Given the description of an element on the screen output the (x, y) to click on. 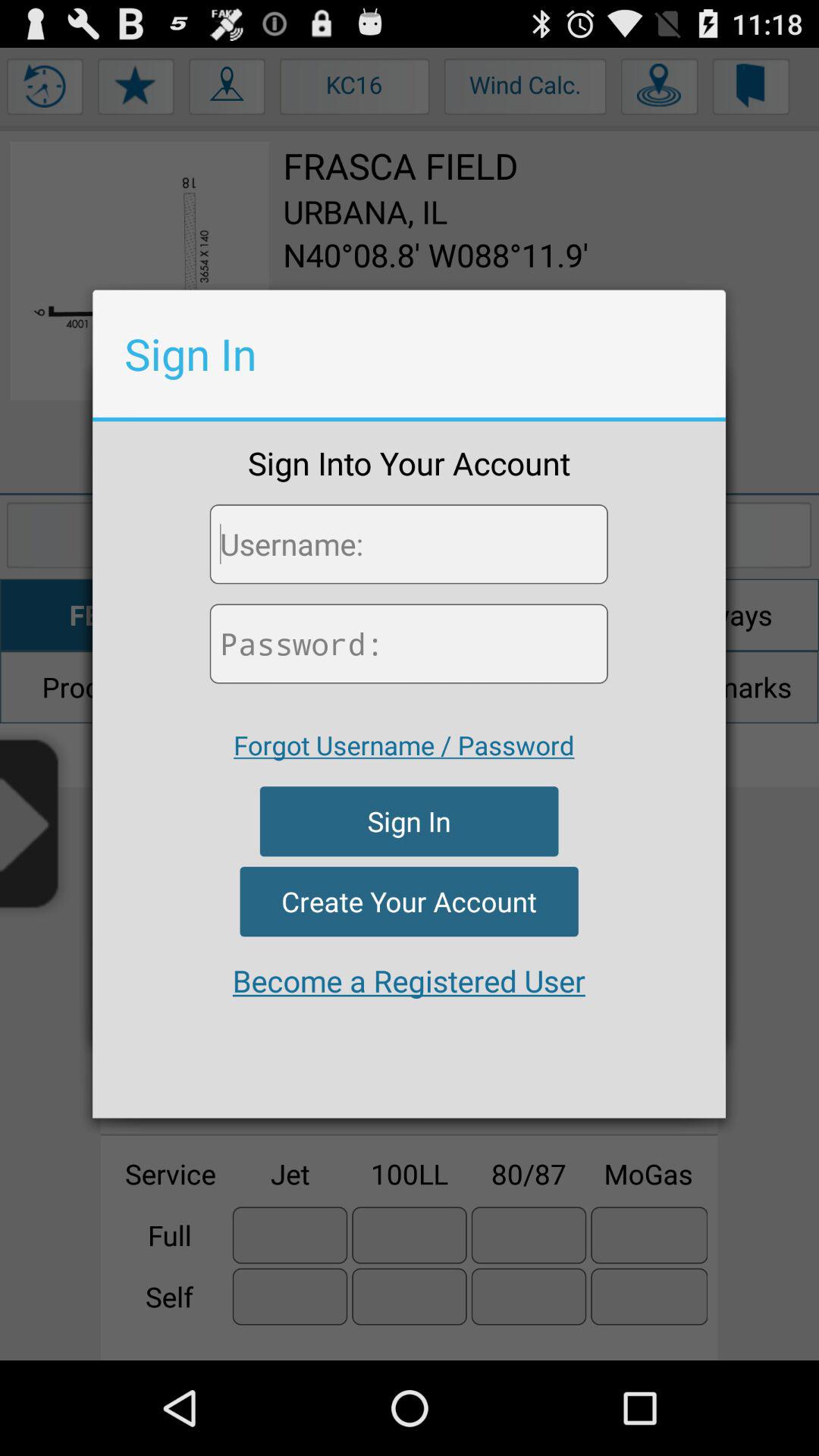
enter password (408, 643)
